Given the description of an element on the screen output the (x, y) to click on. 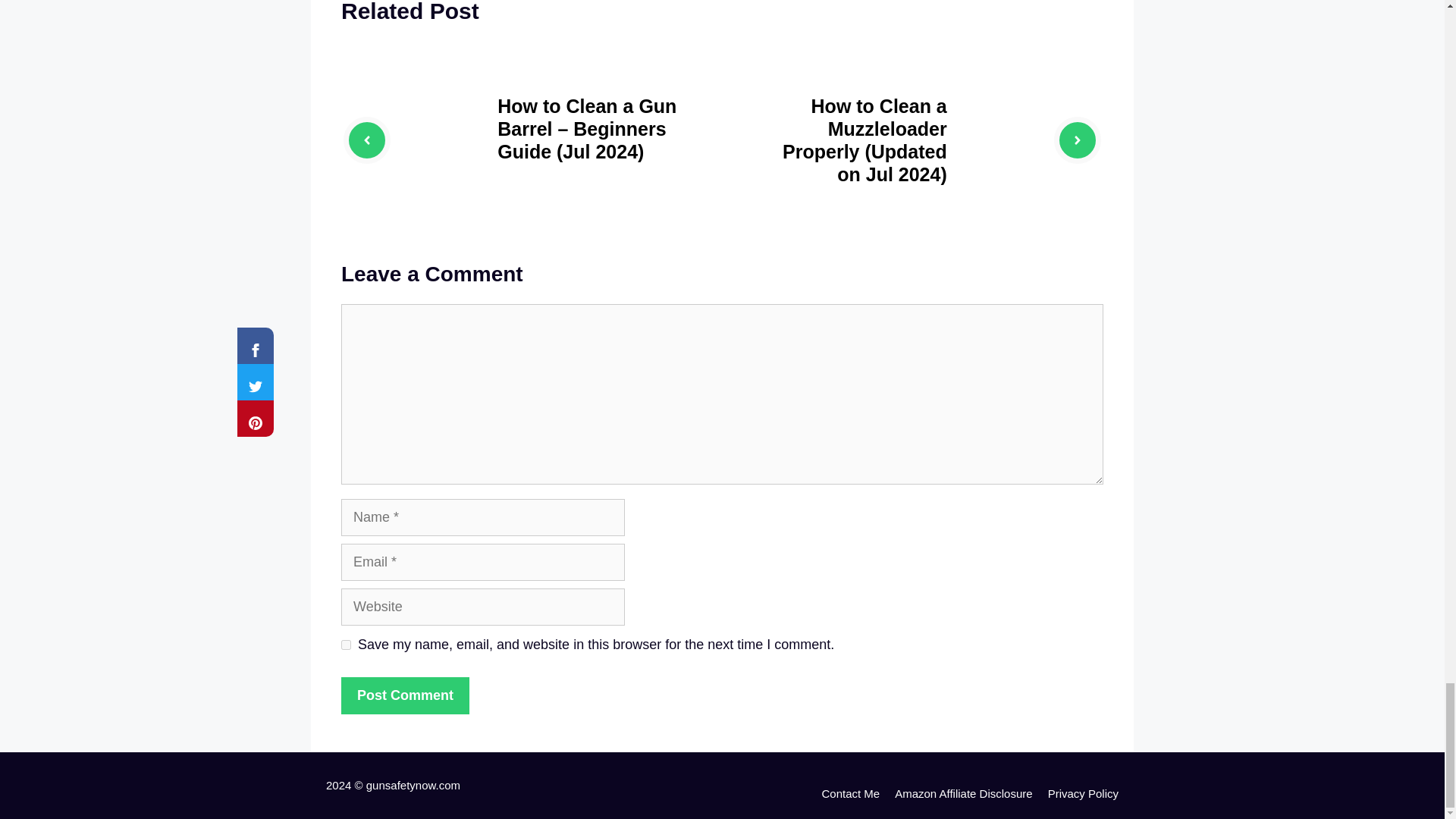
yes (345, 644)
Contact Me (850, 793)
Amazon Affiliate Disclosure (963, 793)
Post Comment (404, 695)
Post Comment (404, 695)
